Given the description of an element on the screen output the (x, y) to click on. 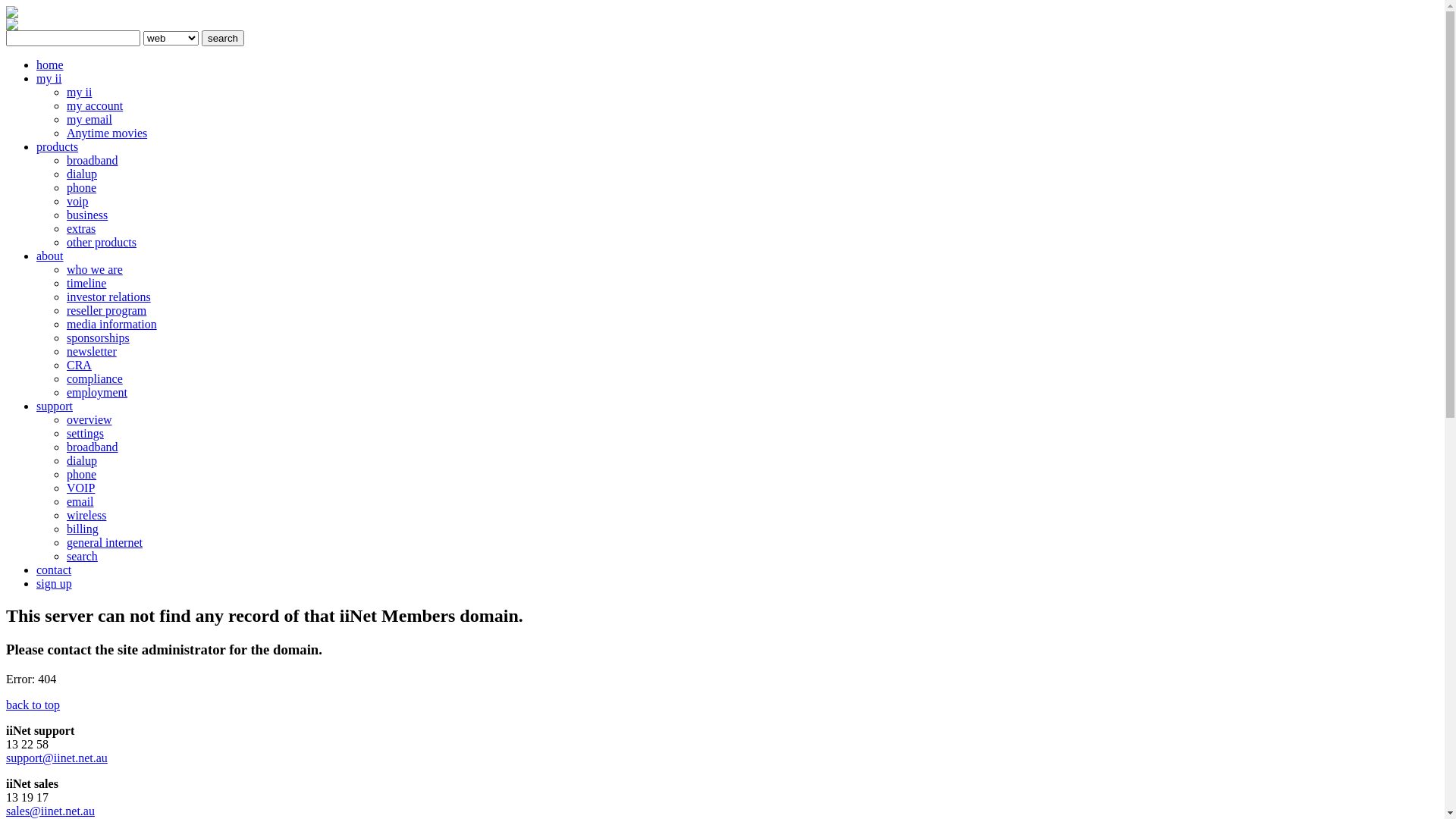
products Element type: text (57, 146)
reseller program Element type: text (106, 310)
email Element type: text (80, 501)
timeline Element type: text (86, 282)
about Element type: text (49, 255)
other products Element type: text (101, 241)
who we are Element type: text (94, 269)
search Element type: text (222, 38)
billing Element type: text (82, 528)
wireless Element type: text (86, 514)
my account Element type: text (94, 105)
general internet Element type: text (104, 542)
my ii Element type: text (78, 91)
dialup Element type: text (81, 460)
employment Element type: text (96, 391)
sales@iinet.net.au Element type: text (50, 810)
dialup Element type: text (81, 173)
sign up Element type: text (54, 583)
support Element type: text (54, 405)
overview Element type: text (89, 419)
broadband Element type: text (92, 159)
VOIP Element type: text (80, 487)
business Element type: text (86, 214)
broadband Element type: text (92, 446)
newsletter Element type: text (91, 351)
support@iinet.net.au Element type: text (56, 757)
voip Element type: text (76, 200)
extras Element type: text (80, 228)
compliance Element type: text (94, 378)
Anytime movies Element type: text (106, 132)
phone Element type: text (81, 187)
CRA Element type: text (78, 364)
home Element type: text (49, 64)
search Element type: text (81, 555)
back to top Element type: text (32, 704)
media information Element type: text (111, 323)
investor relations Element type: text (108, 296)
my ii Element type: text (48, 78)
sponsorships Element type: text (97, 337)
phone Element type: text (81, 473)
my email Element type: text (89, 118)
settings Element type: text (84, 432)
contact Element type: text (53, 569)
